Given the description of an element on the screen output the (x, y) to click on. 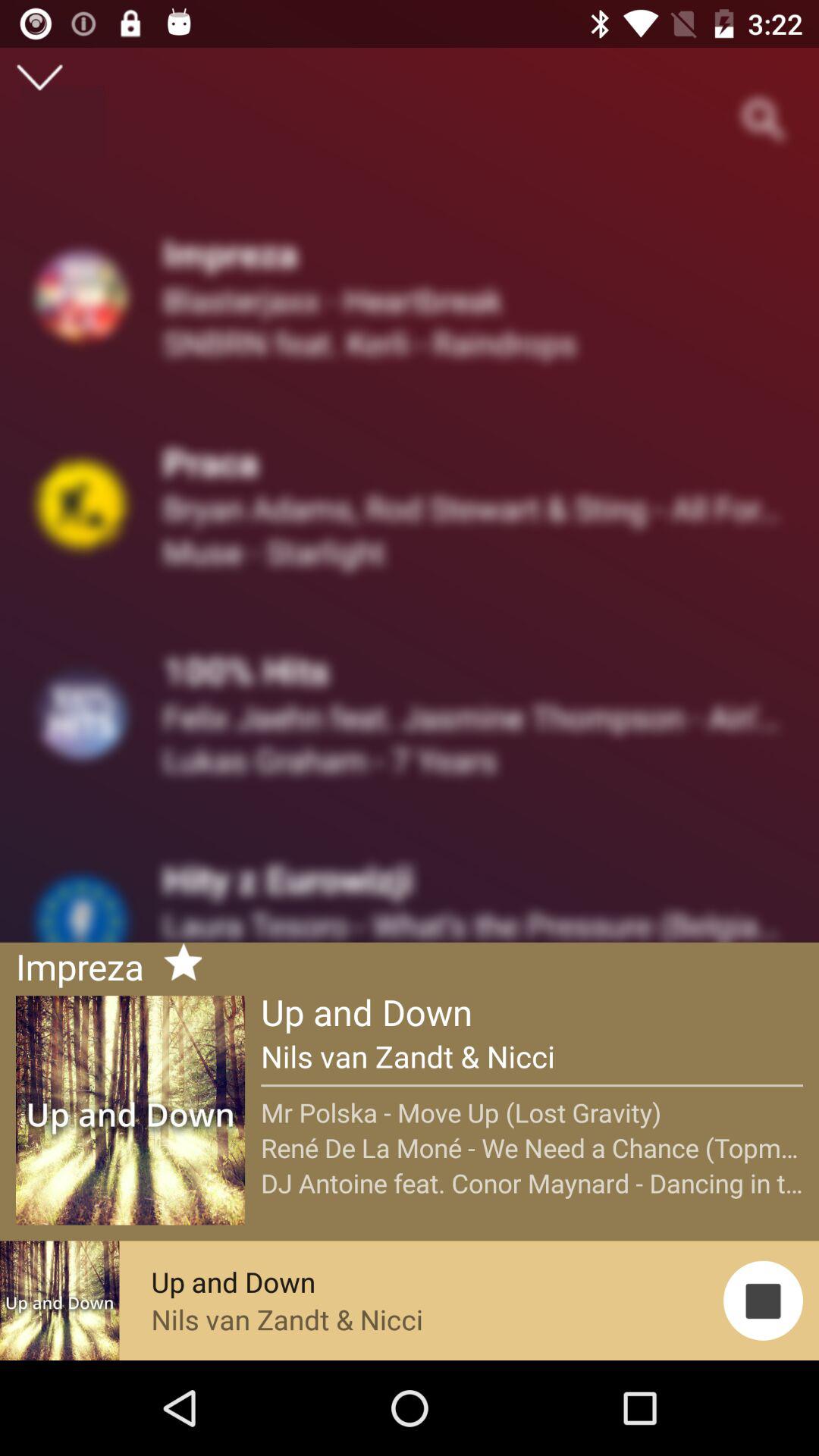
lower page (39, 77)
